Given the description of an element on the screen output the (x, y) to click on. 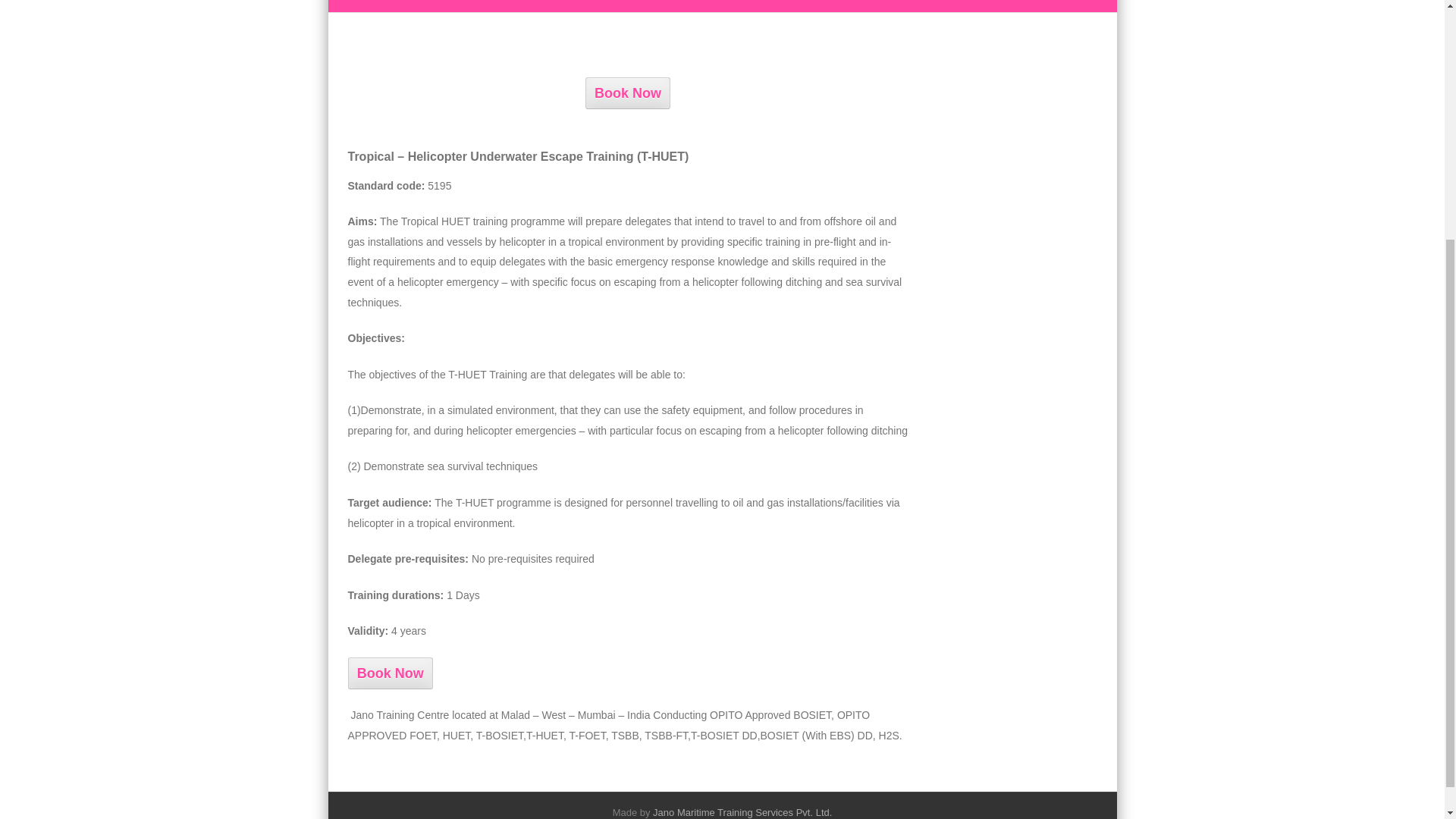
Book Now (389, 673)
Book Now (627, 92)
Book Now (627, 92)
Book Now (389, 672)
Jano Maritime Training Services Pvt. Ltd. (741, 812)
